Given the description of an element on the screen output the (x, y) to click on. 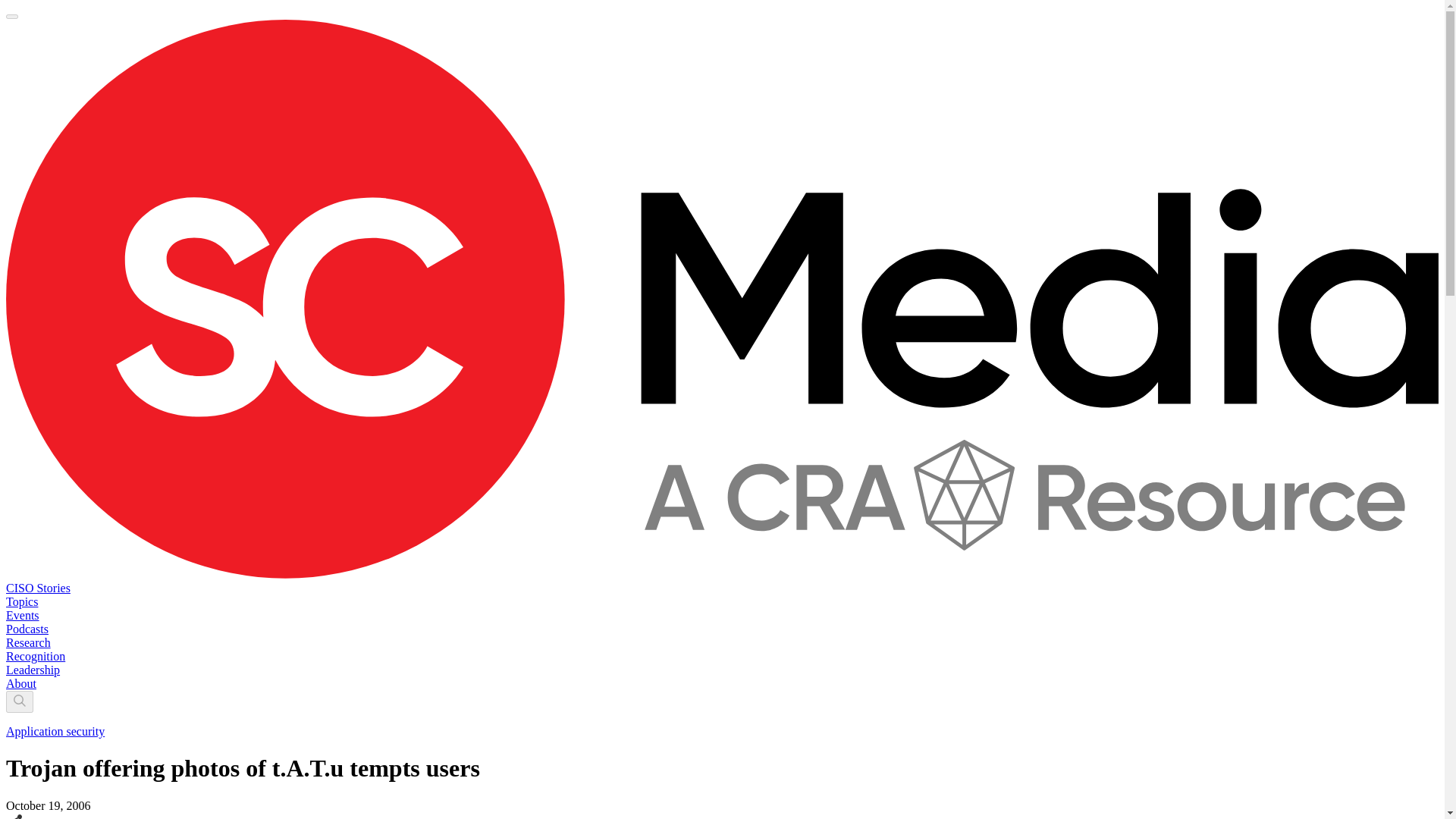
Podcasts (26, 628)
Leadership (32, 669)
Recognition (35, 656)
CISO Stories (37, 587)
Topics (21, 601)
Events (22, 615)
Research (27, 642)
Application security (54, 730)
About (20, 683)
